Given the description of an element on the screen output the (x, y) to click on. 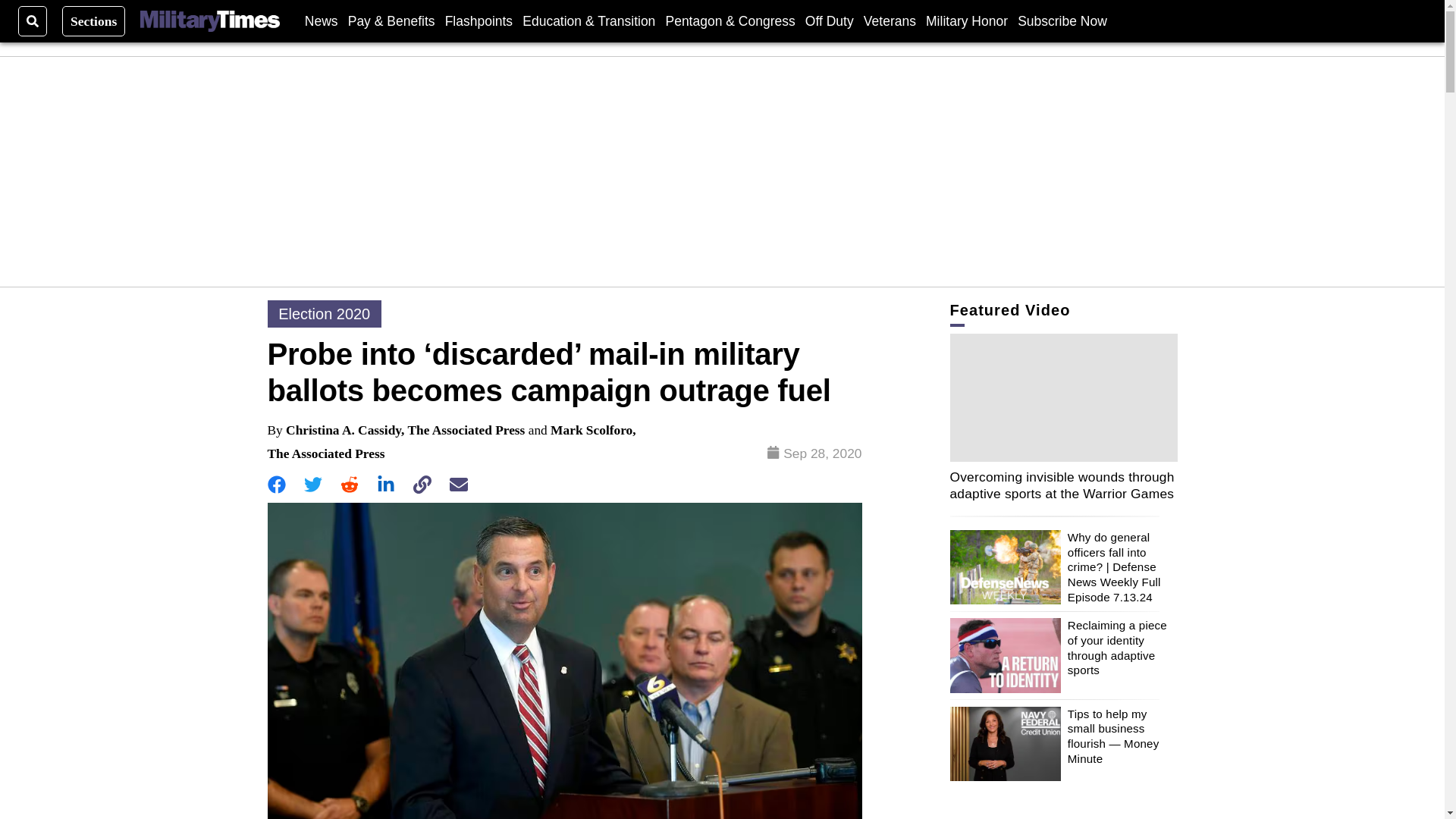
Veterans (889, 20)
Off Duty (829, 20)
Sections (93, 20)
News (320, 20)
Flashpoints (479, 20)
Military Times Logo (209, 20)
Military Honor (966, 20)
